Given the description of an element on the screen output the (x, y) to click on. 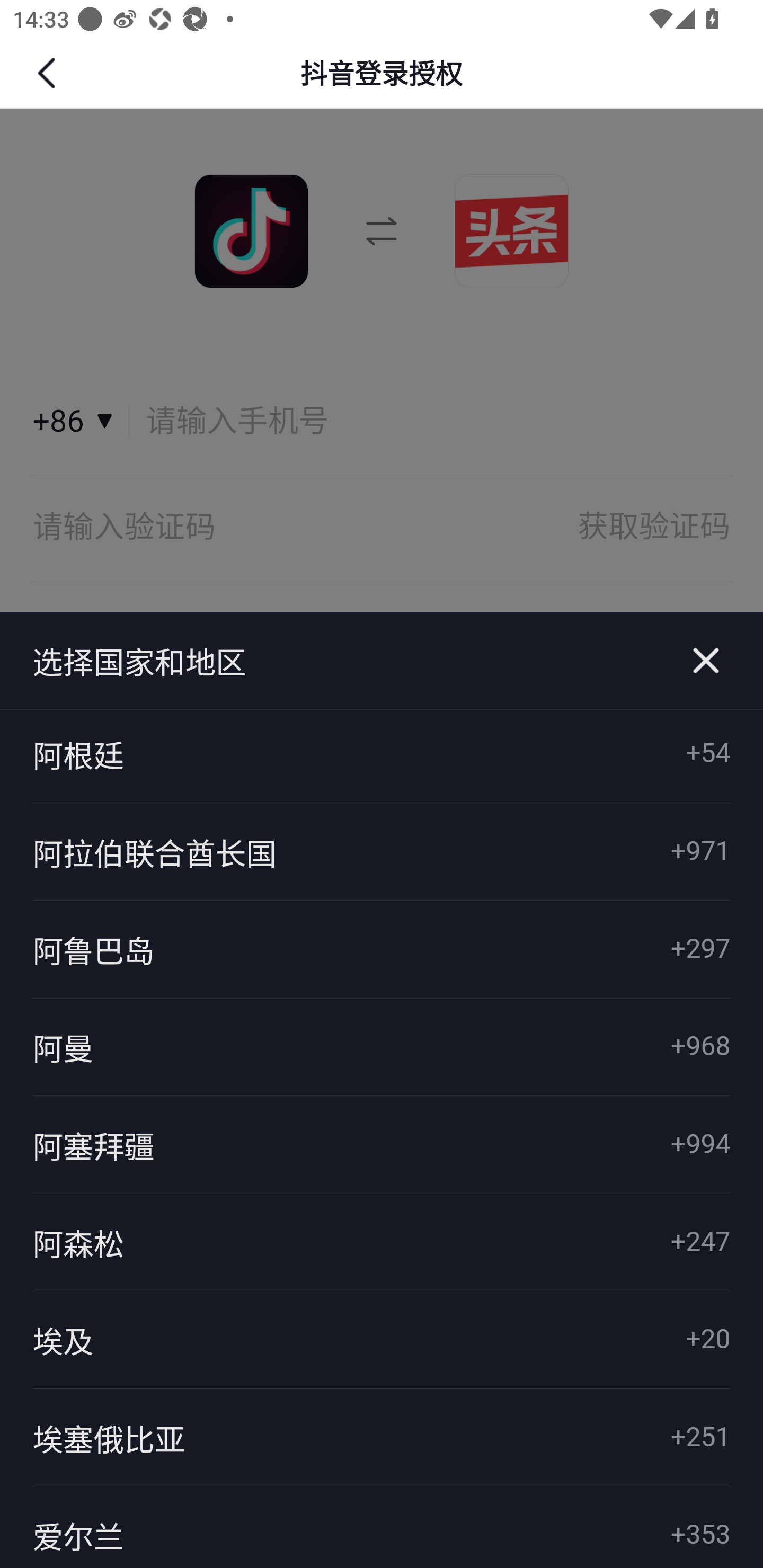
返回 (49, 72)
一键授权 (381, 658)
关闭 (705, 660)
阿根廷+54 (381, 753)
阿拉伯联合酋长国+971 (381, 851)
阿鲁巴岛+297 (381, 949)
阿曼+968 (381, 1047)
阿塞拜疆+994 (381, 1145)
阿森松+247 (381, 1242)
埃及+20 (381, 1339)
埃塞俄比亚+251 (381, 1436)
爱尔兰+353 (381, 1526)
